Given the description of an element on the screen output the (x, y) to click on. 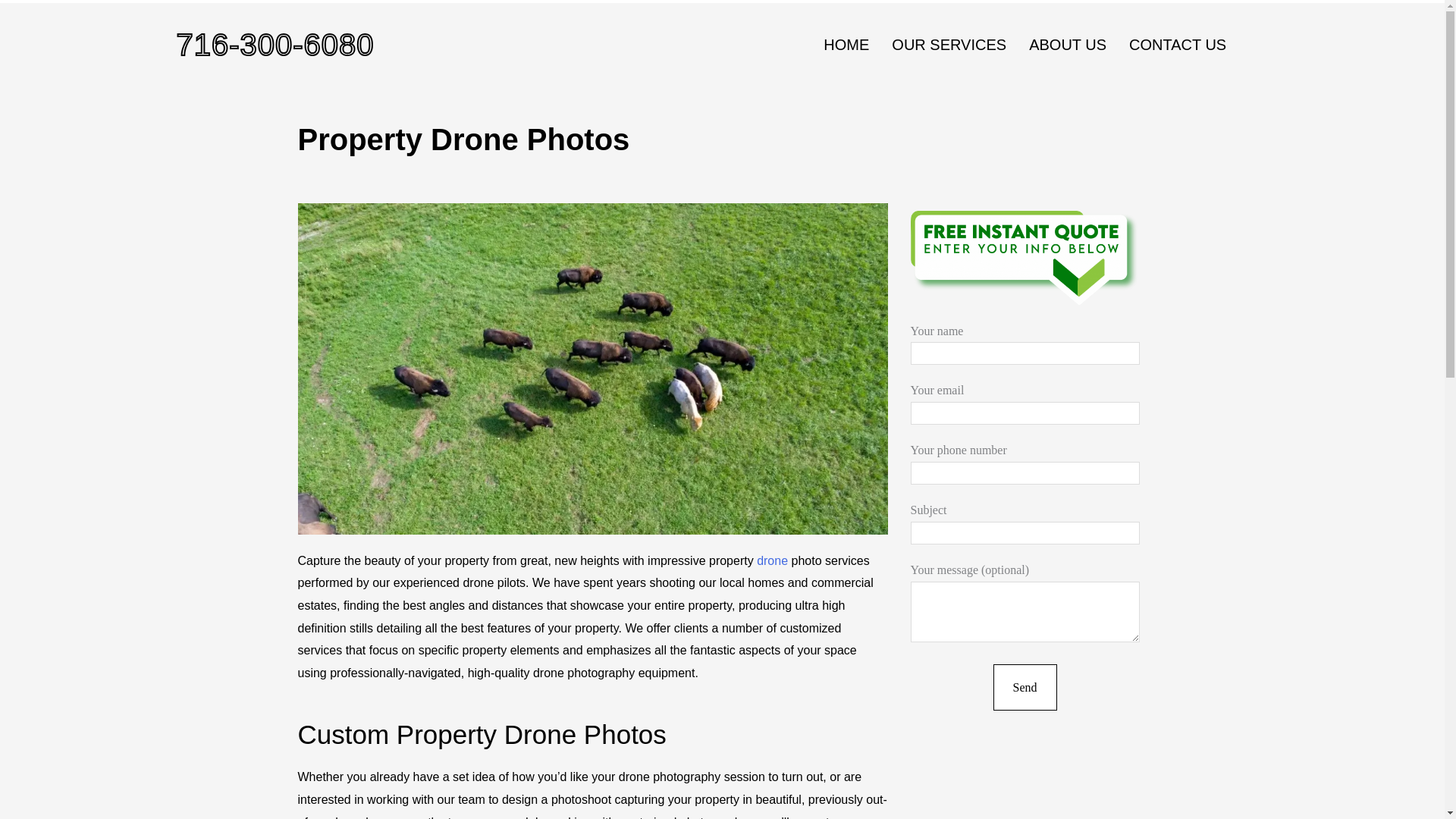
HOME (846, 44)
Send (1024, 687)
716-300-6080 (275, 44)
drone (772, 560)
Send (1024, 687)
ABOUT US (1067, 44)
CONTACT US (1177, 44)
OUR SERVICES (948, 44)
